Given the description of an element on the screen output the (x, y) to click on. 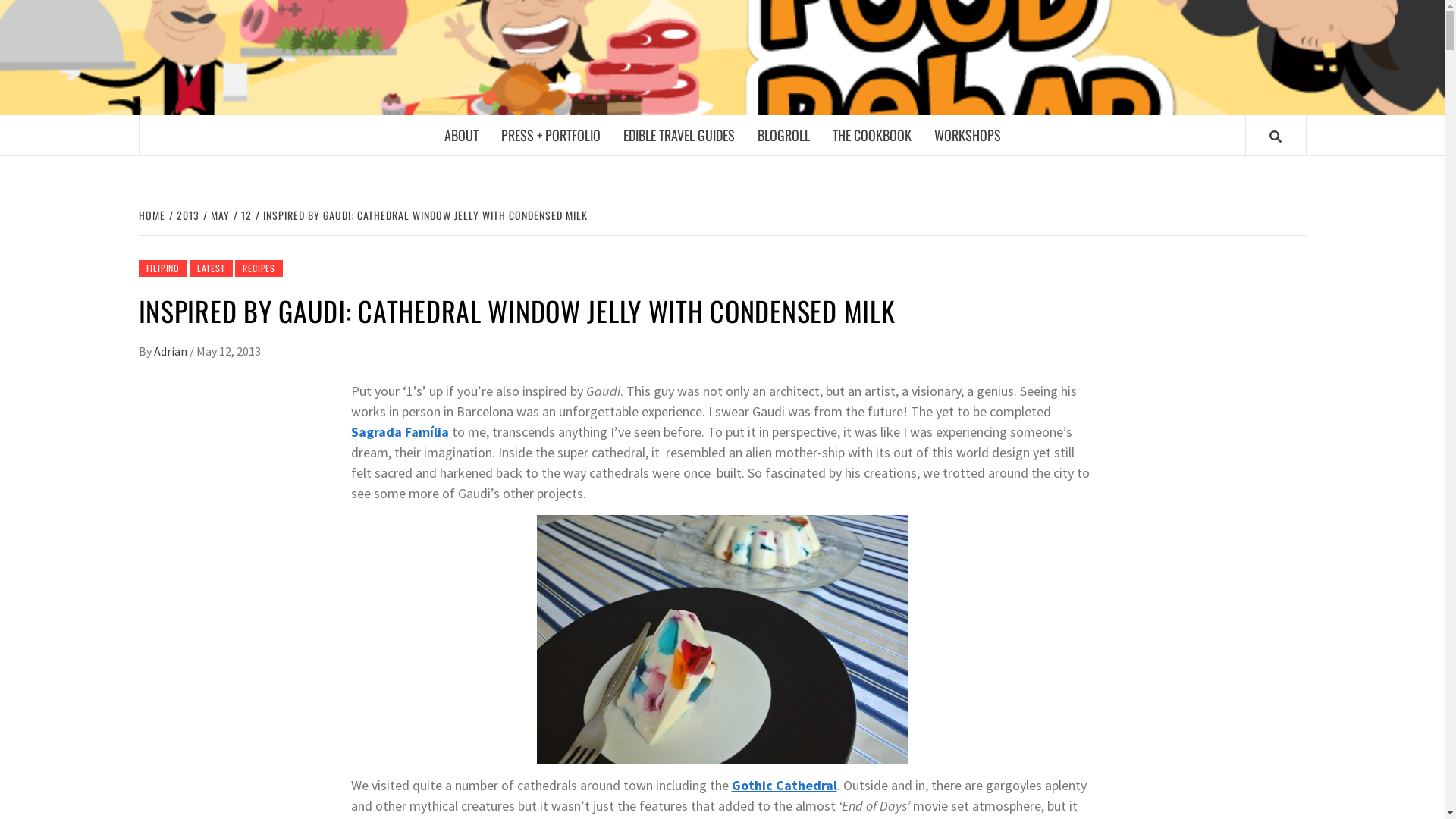
FILIPINO Element type: text (161, 268)
EDIBLE TRAVEL GUIDES Element type: text (678, 135)
RECIPES Element type: text (258, 268)
FOOD REHAB: THE TASTEBUD DIARIES A MELBOURNE FOOD BLOG Element type: text (1019, 103)
WORKSHOPS Element type: text (966, 135)
cathedral window jelly recipe Element type: hover (721, 638)
Gothic Cathedral Element type: text (783, 784)
2013 Element type: text (185, 214)
THE COOKBOOK Element type: text (871, 135)
LATEST Element type: text (210, 268)
PRESS + PORTFOLIO Element type: text (550, 135)
BLOGROLL Element type: text (783, 135)
MAY Element type: text (218, 214)
Adrian Element type: text (170, 350)
ABOUT Element type: text (460, 135)
12 Element type: text (244, 214)
HOME Element type: text (153, 214)
